Given the description of an element on the screen output the (x, y) to click on. 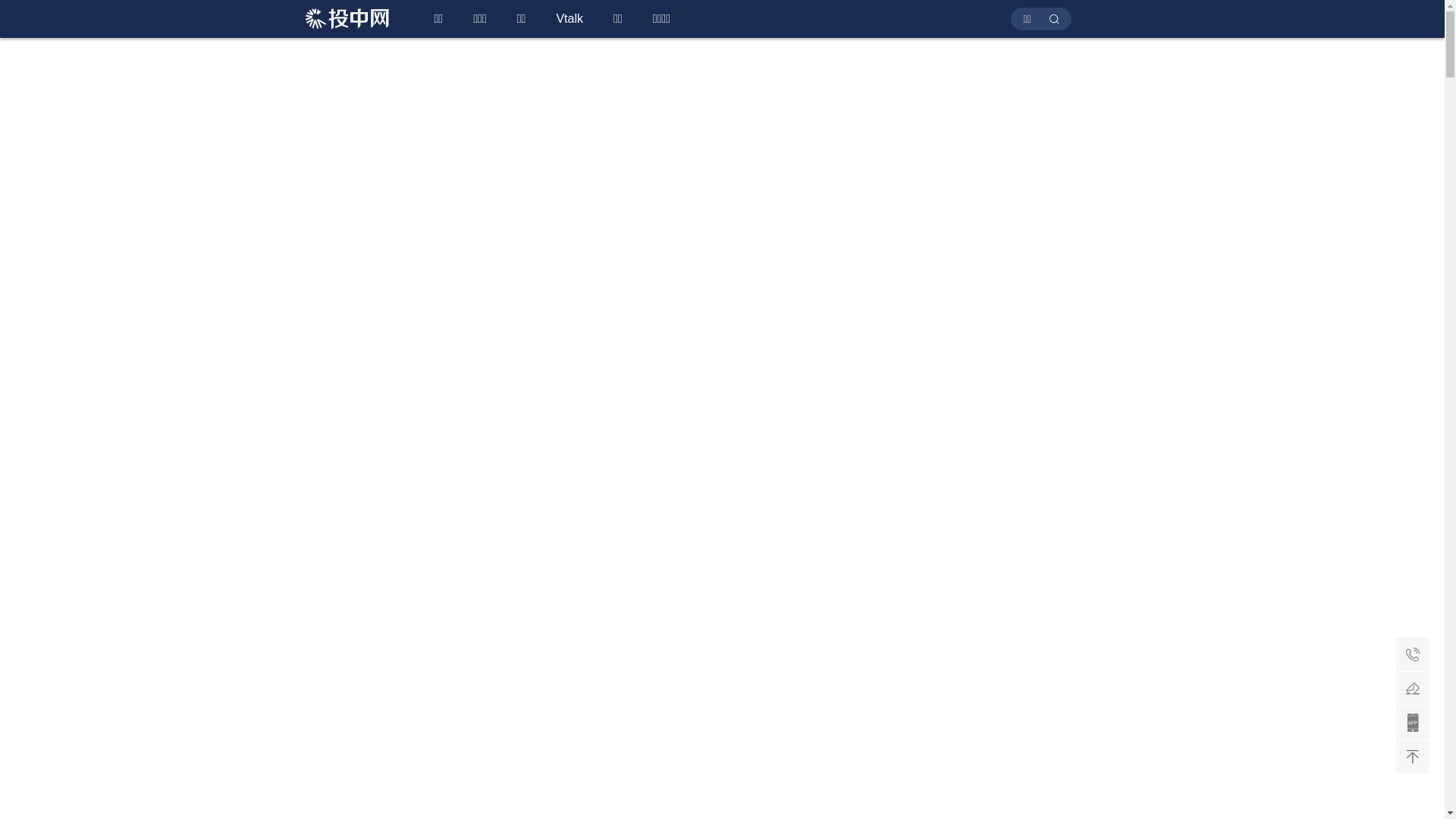
Vtalk Element type: text (569, 18)
